Given the description of an element on the screen output the (x, y) to click on. 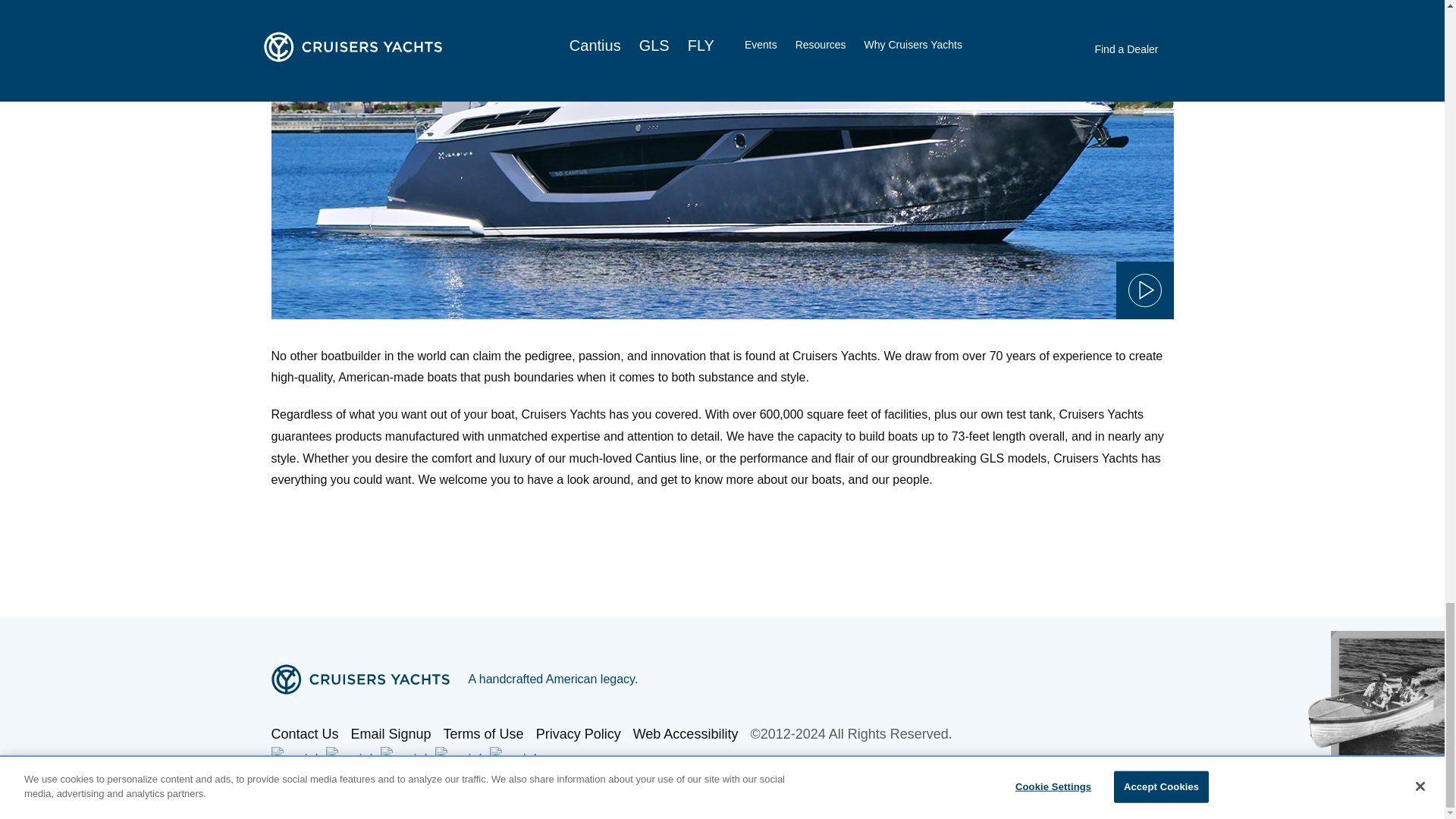
Contact Us (304, 733)
Web Accessibility (685, 733)
Terms of Use (484, 733)
Email Signup (390, 733)
Privacy Policy (578, 733)
